Given the description of an element on the screen output the (x, y) to click on. 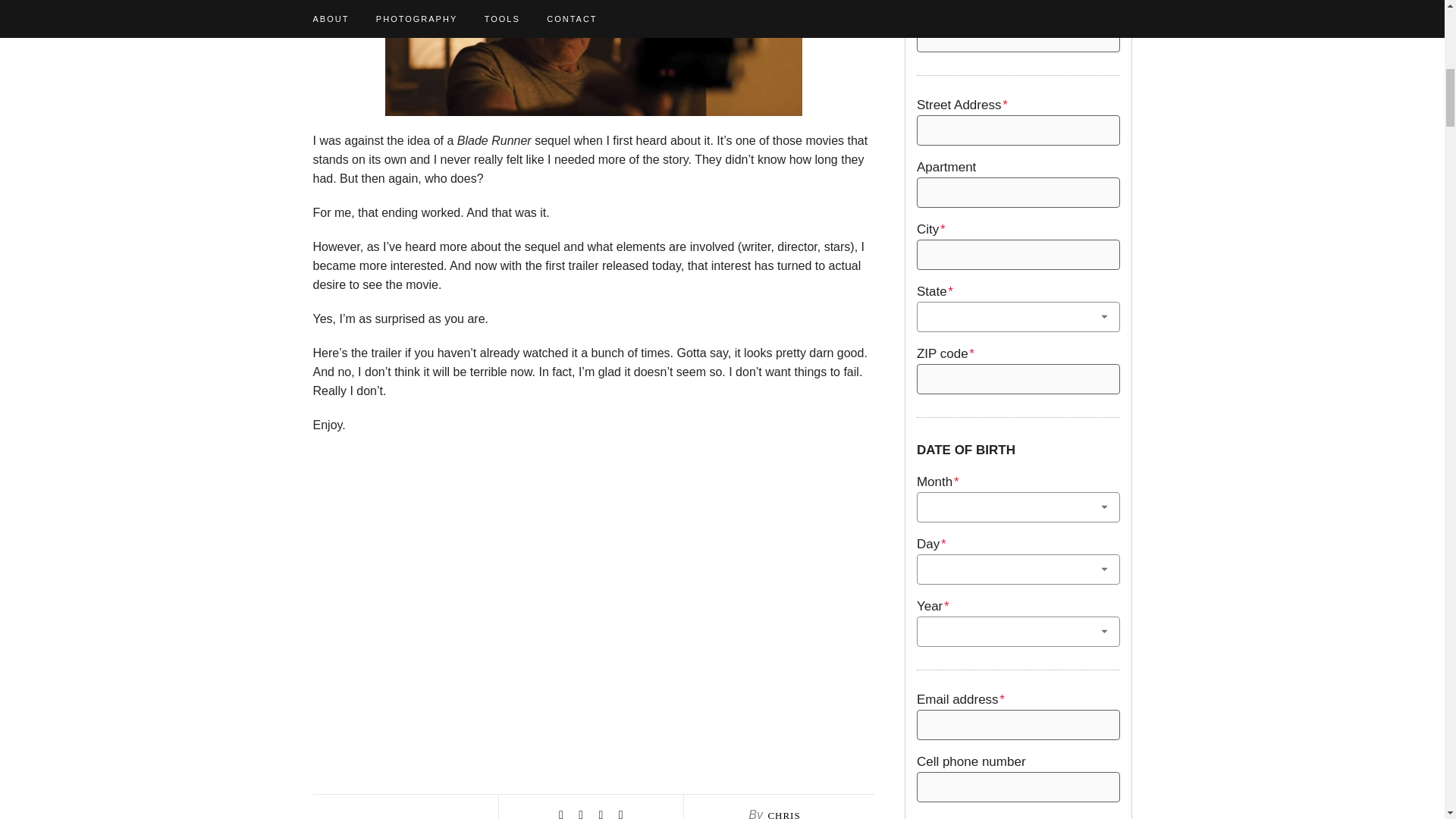
Posts by Chris (783, 814)
CHRIS (783, 814)
